Given the description of an element on the screen output the (x, y) to click on. 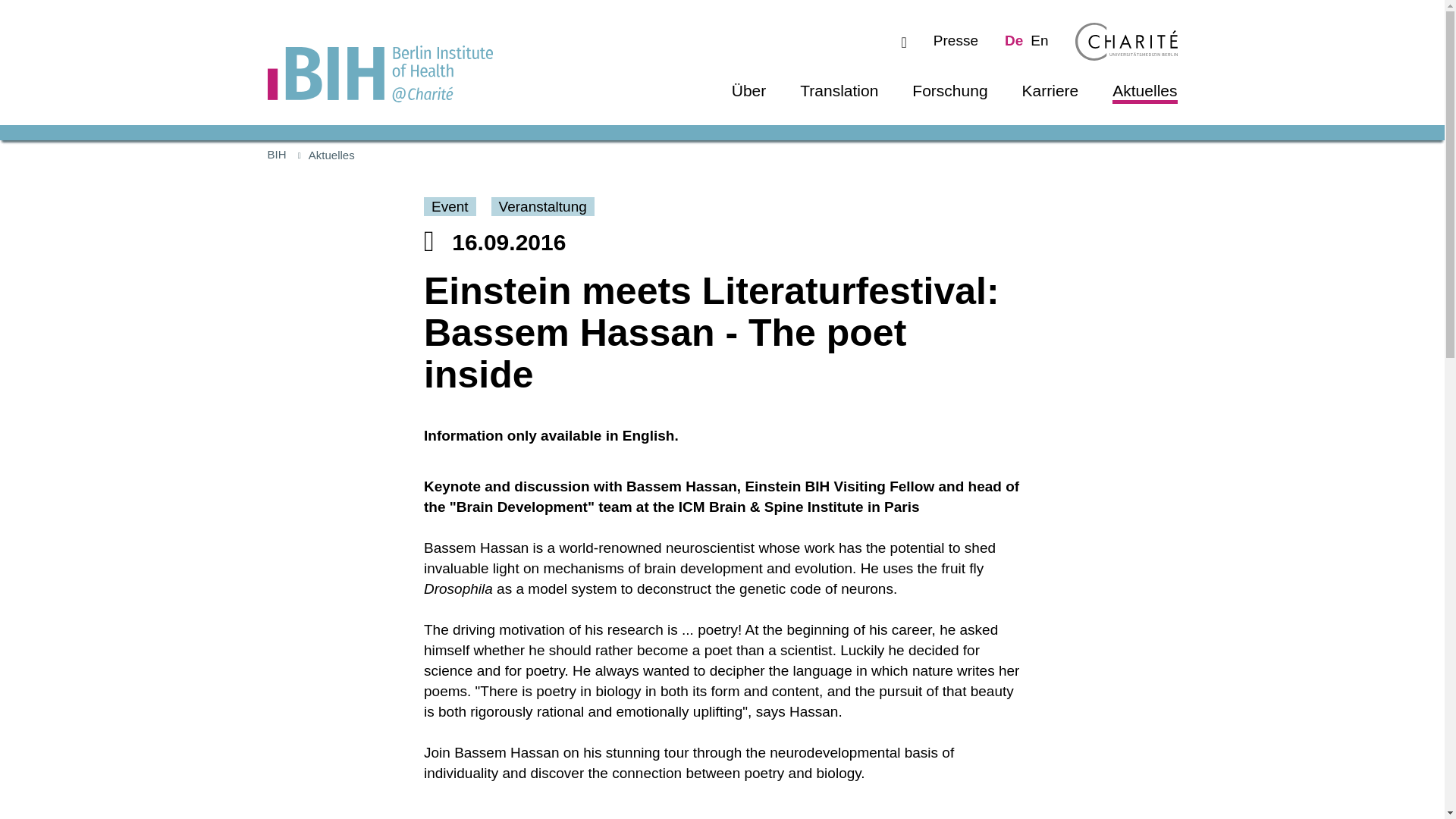
En (1039, 40)
Translation (838, 90)
Presse (955, 40)
deutsch (1013, 40)
Forschung (949, 90)
englisch (1039, 40)
